Given the description of an element on the screen output the (x, y) to click on. 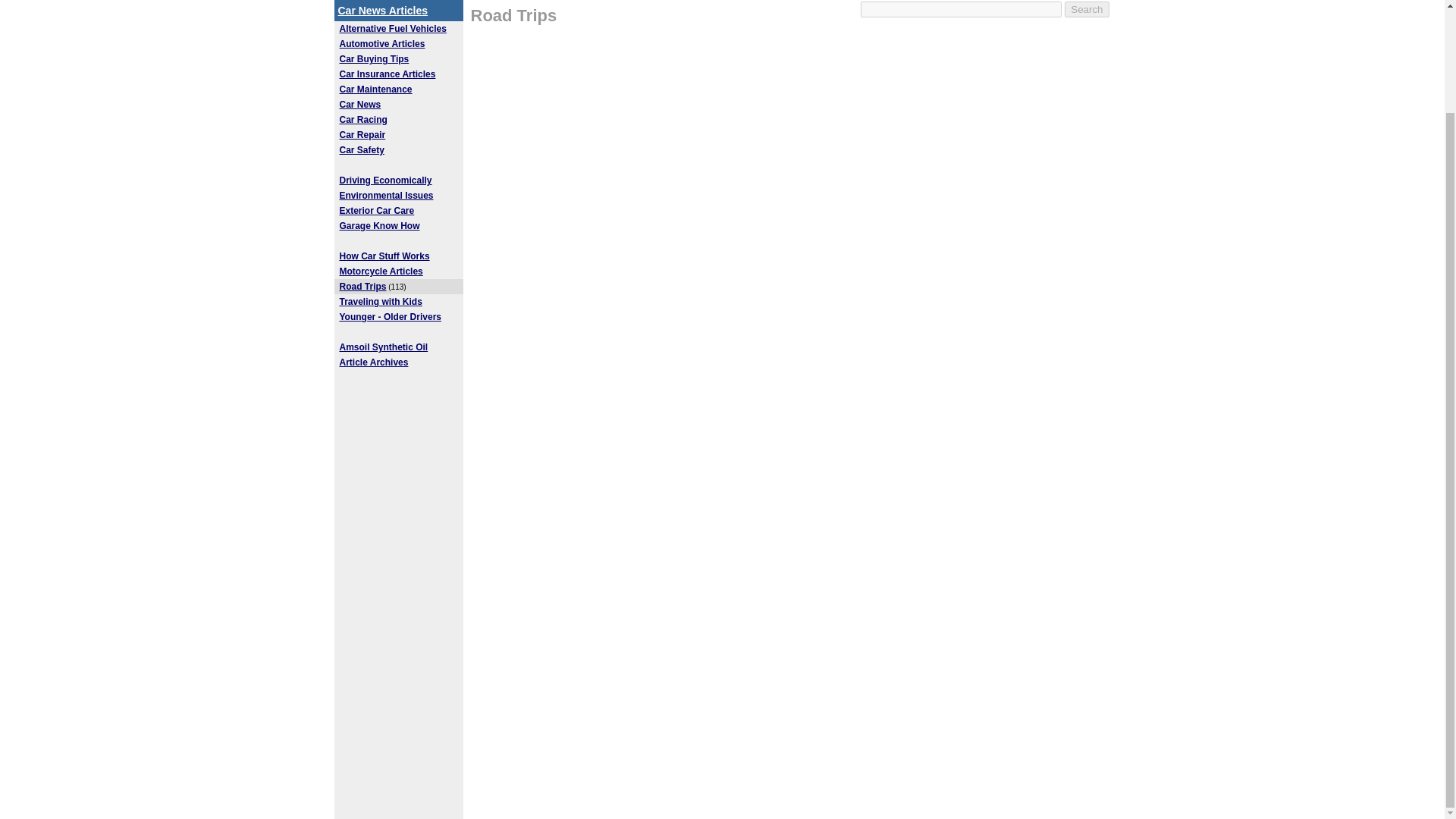
Amsoil Synthetic Oil (383, 347)
Search (1086, 9)
Article Archives (374, 362)
Car Racing (363, 119)
Car Safety (361, 149)
Search (1086, 9)
Exterior Car Care (376, 210)
Alternative Fuel Vehicles (392, 28)
How Car Stuff Works (384, 255)
Car News (360, 104)
